Given the description of an element on the screen output the (x, y) to click on. 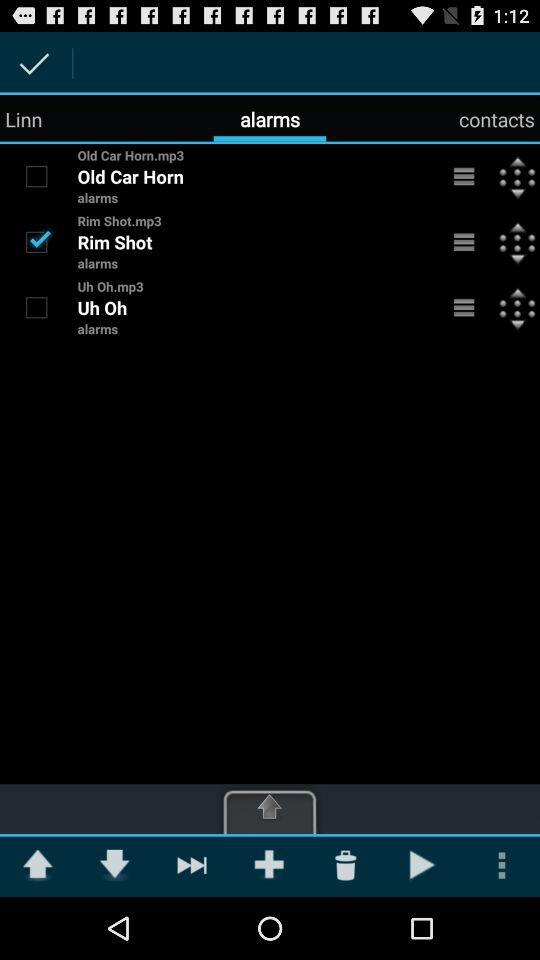
select alarm (463, 241)
